Given the description of an element on the screen output the (x, y) to click on. 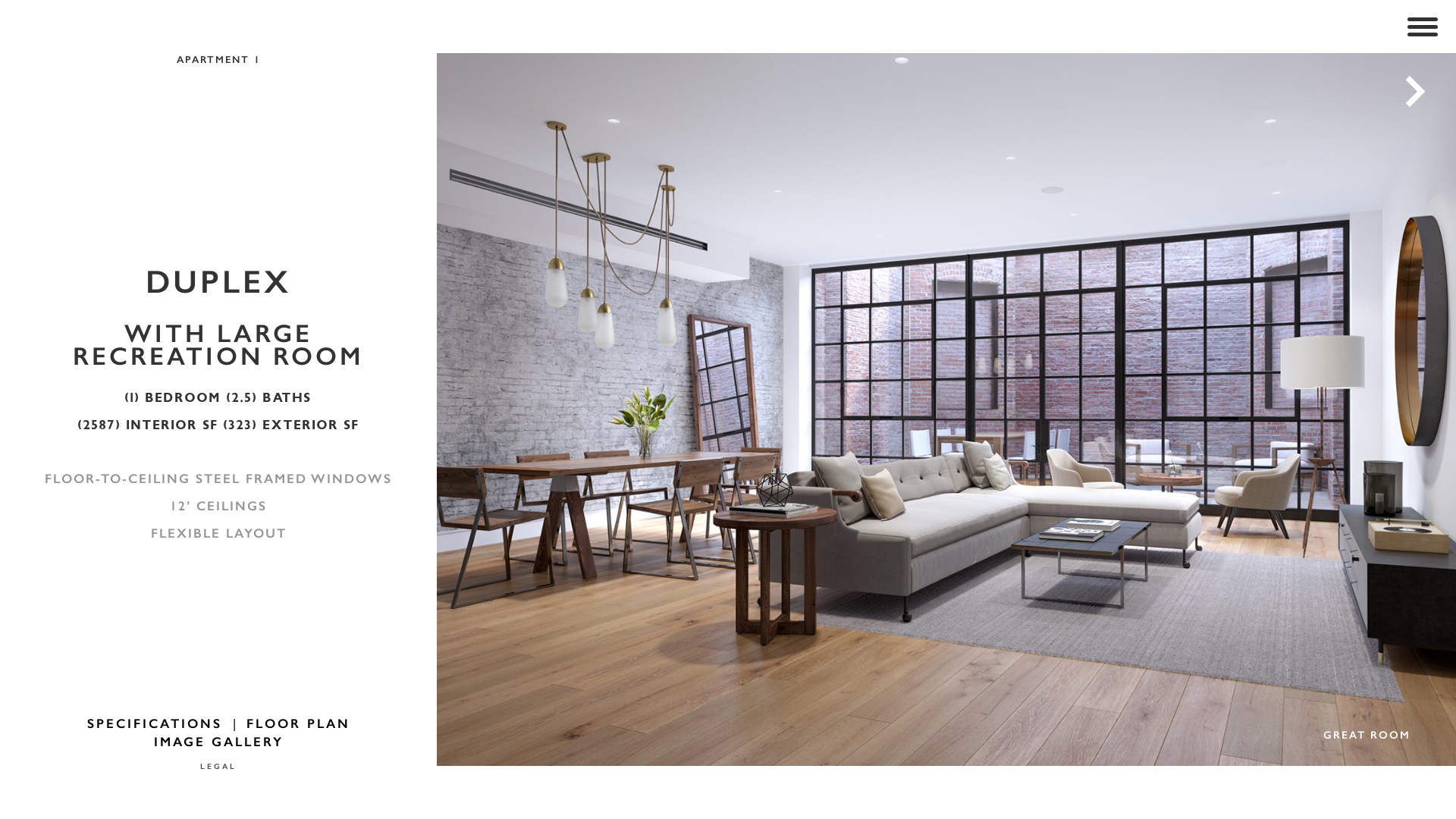
FLOOR PLAN Element type: text (297, 723)
IMAGE GALLERY Element type: text (218, 741)
SPECIFICATIONS Element type: text (153, 723)
LEGAL Element type: text (218, 756)
